Given the description of an element on the screen output the (x, y) to click on. 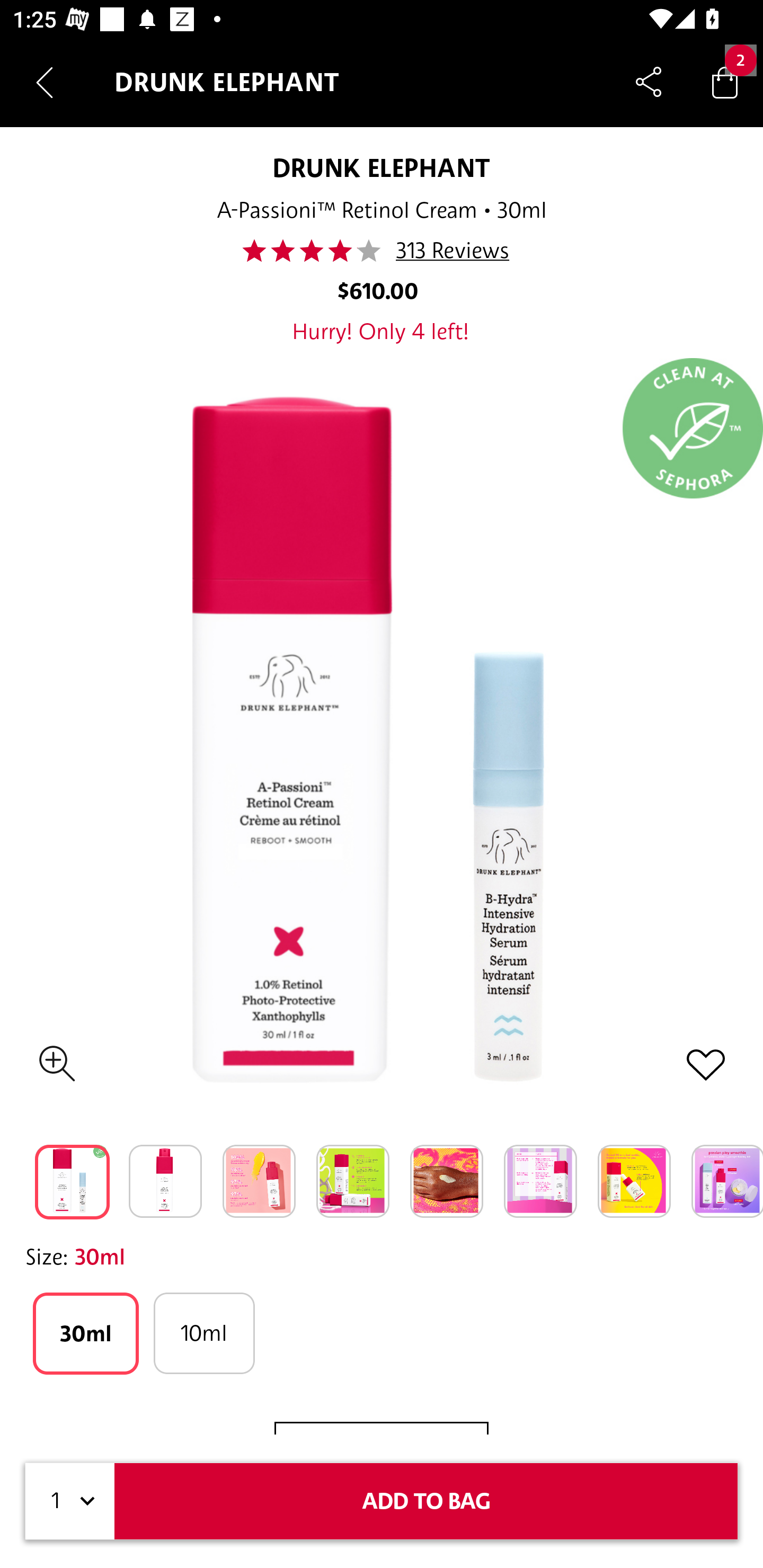
Navigate up (44, 82)
Share (648, 81)
Bag (724, 81)
DRUNK ELEPHANT (381, 167)
41.0 313 Reviews (381, 250)
30ml (85, 1333)
10ml (203, 1332)
1 (69, 1500)
ADD TO BAG (425, 1500)
